Given the description of an element on the screen output the (x, y) to click on. 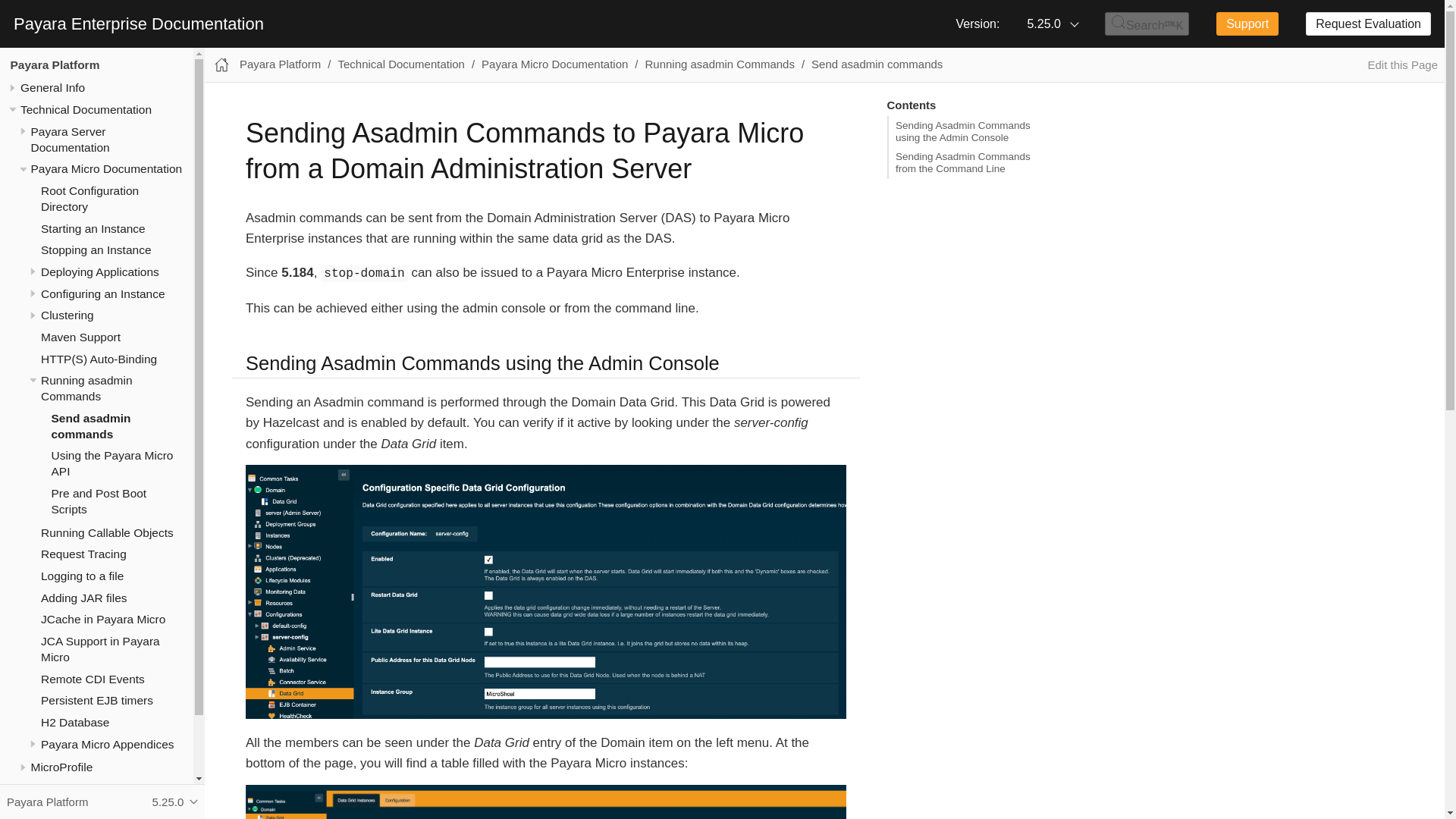
5.25.0 (1051, 23)
Payara Enterprise Documentation (138, 23)
